Given the description of an element on the screen output the (x, y) to click on. 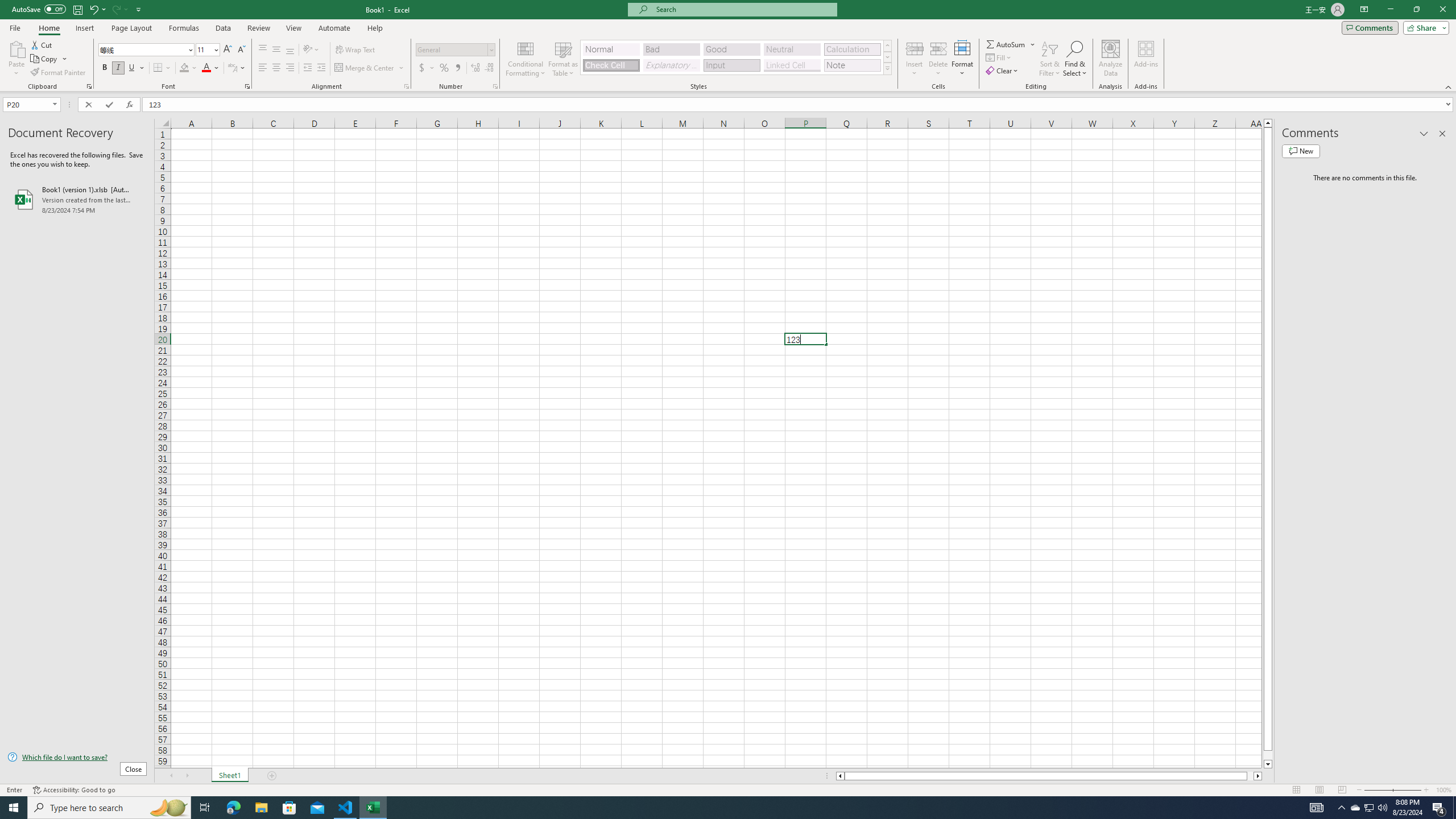
Format as Table (563, 58)
Underline (131, 67)
Decrease Decimal (489, 67)
Data (223, 28)
Save (77, 9)
Accessibility Checker Accessibility: Good to go (74, 790)
Decrease Indent (307, 67)
Middle Align (276, 49)
Column left (839, 775)
Formulas (184, 28)
AutomationID: CellStylesGallery (736, 57)
Class: MsoCommandBar (728, 45)
Format (962, 58)
